Given the description of an element on the screen output the (x, y) to click on. 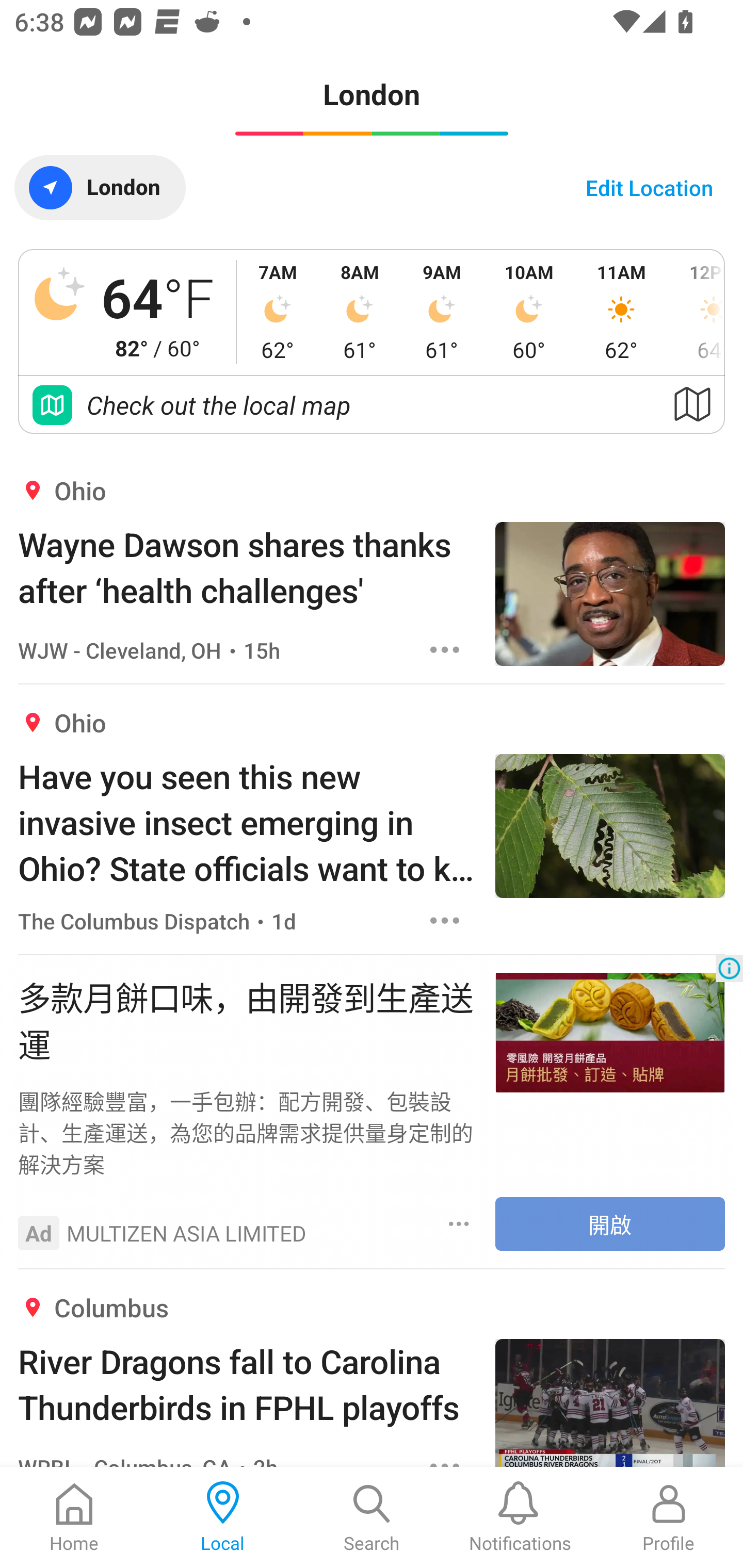
London (99, 187)
Edit Location (648, 187)
7AM 62° (277, 311)
8AM 61° (359, 311)
9AM 61° (441, 311)
10AM 60° (528, 311)
11AM 62° (621, 311)
12PM 64° (696, 311)
Check out the local map (371, 405)
Options (444, 649)
Options (444, 920)
Ad Choices Icon (729, 967)
多款月餅口味，由開發到生產送運 (247, 1019)
團隊經驗豐富，一手包辦：配方開發、包裝設計、生產運送，為您的品牌需求提供量身定制的解決方案 (247, 1132)
開啟 (610, 1223)
Options (459, 1223)
MULTIZEN ASIA LIMITED (186, 1233)
Home (74, 1517)
Search (371, 1517)
Notifications (519, 1517)
Profile (668, 1517)
